Given the description of an element on the screen output the (x, y) to click on. 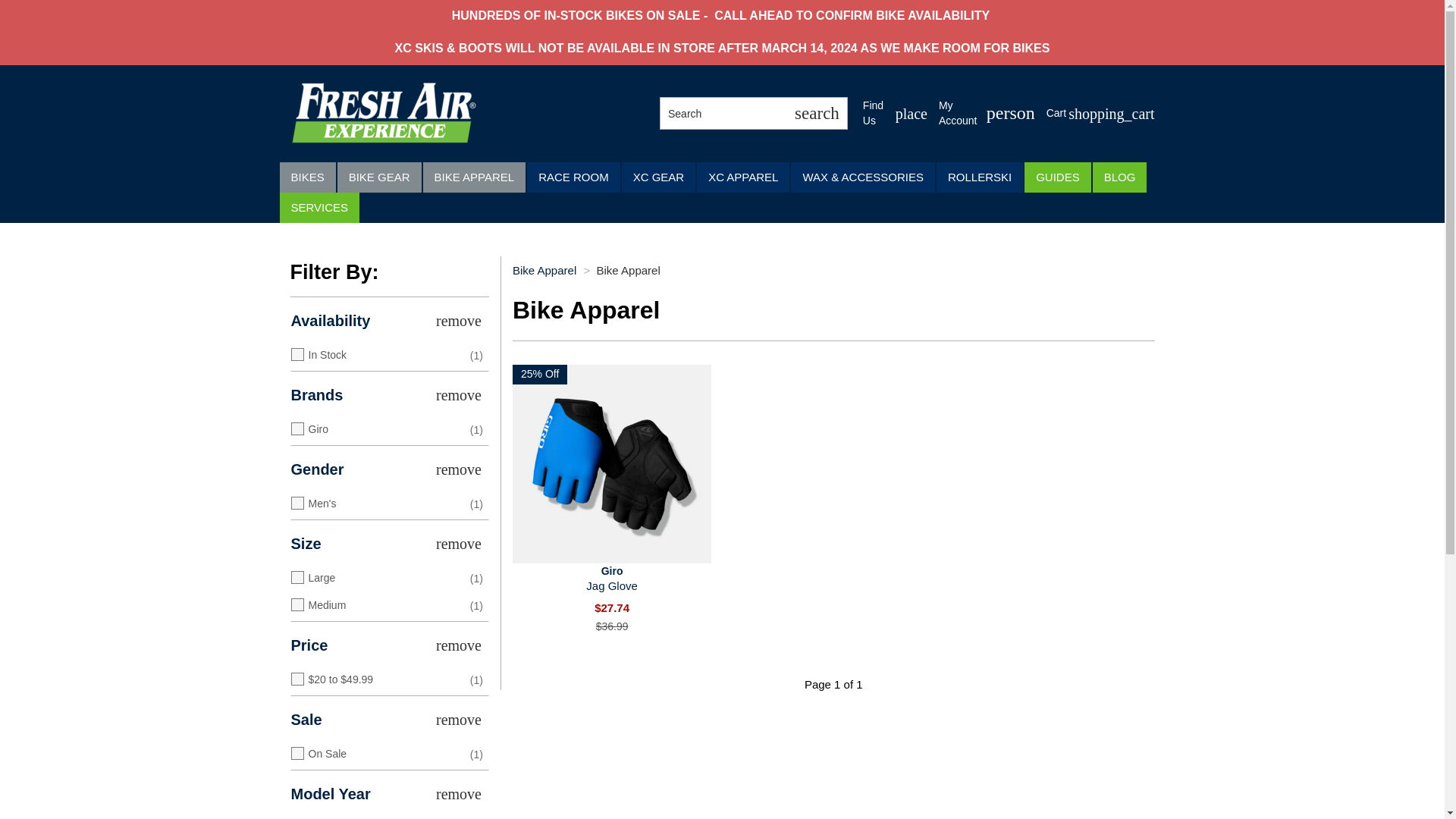
BIKE GEAR (1100, 113)
Giro Jag Glove (379, 177)
Store (611, 463)
Fresh Air Experience Home Page (895, 113)
Giro Jag Glove (895, 113)
Search (384, 111)
Account (611, 578)
Search (816, 113)
